Given the description of an element on the screen output the (x, y) to click on. 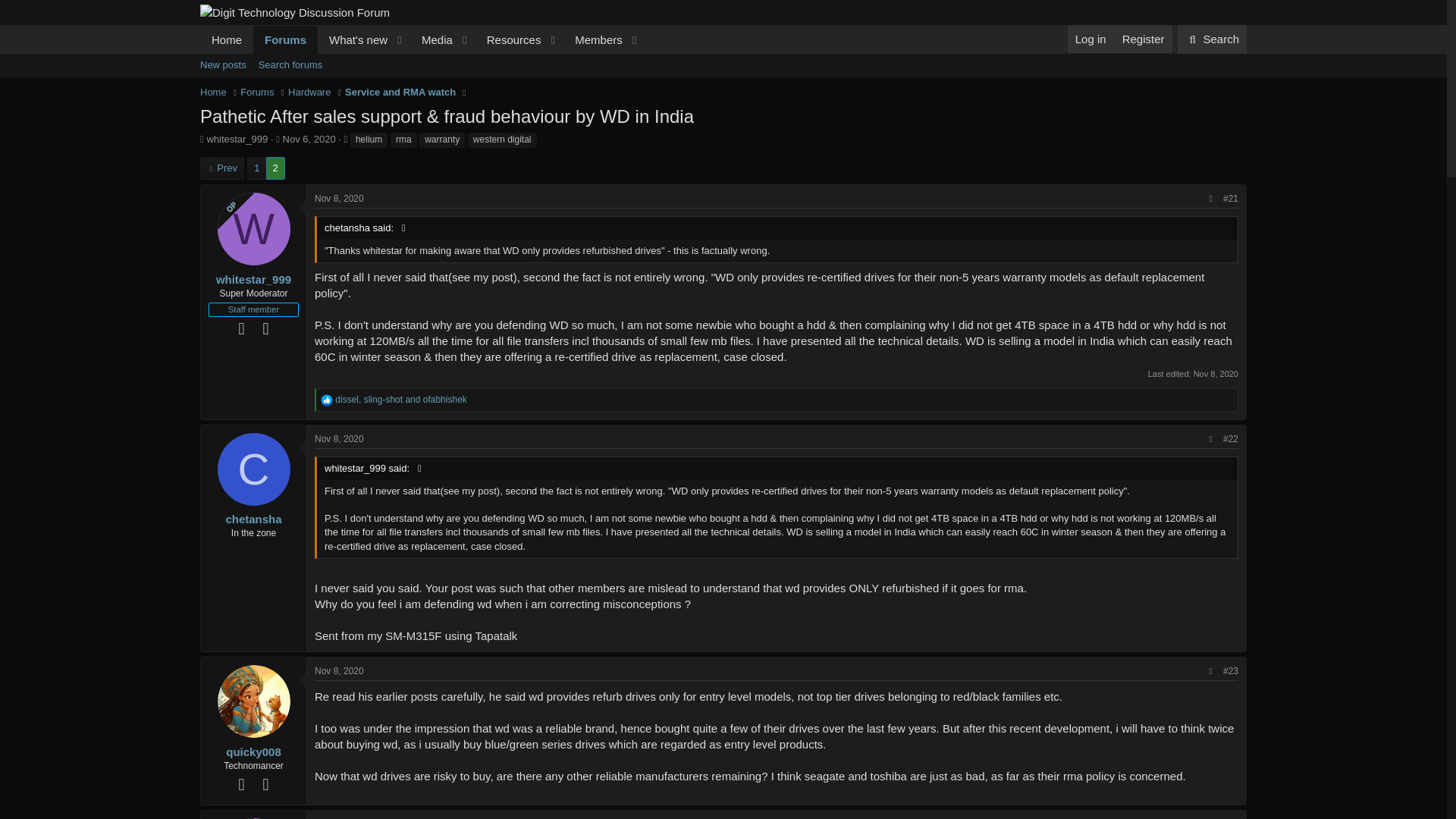
Nov 8, 2020 at 3:13 PM (339, 670)
Media (432, 39)
Log in (1090, 39)
PC build expert (241, 784)
Members (593, 39)
Search forums (290, 65)
New posts (222, 65)
Like (326, 399)
Nov 6, 2020 at 6:34 PM (309, 138)
Home (226, 39)
